Given the description of an element on the screen output the (x, y) to click on. 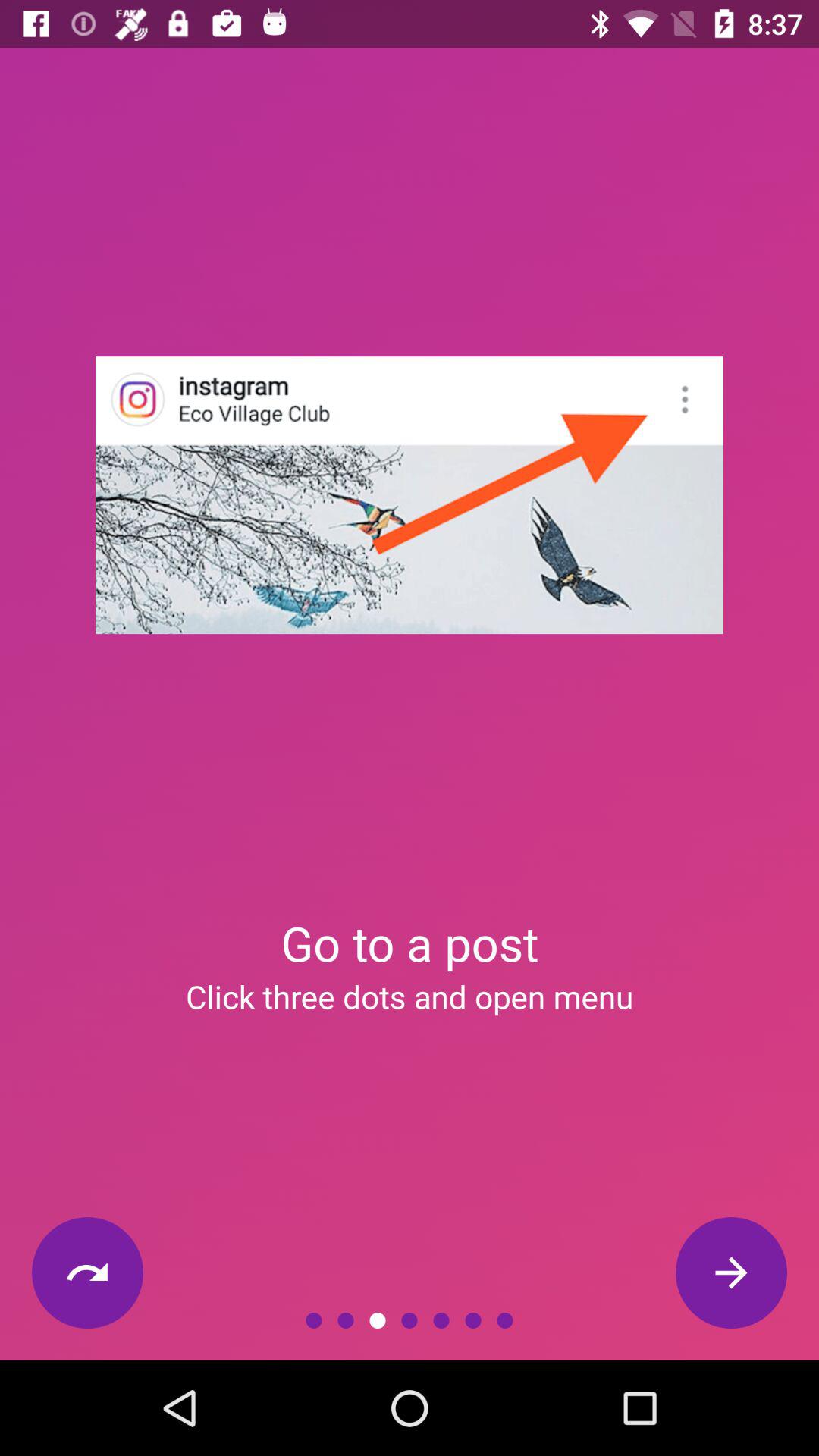
select the item below click three dots item (731, 1272)
